Given the description of an element on the screen output the (x, y) to click on. 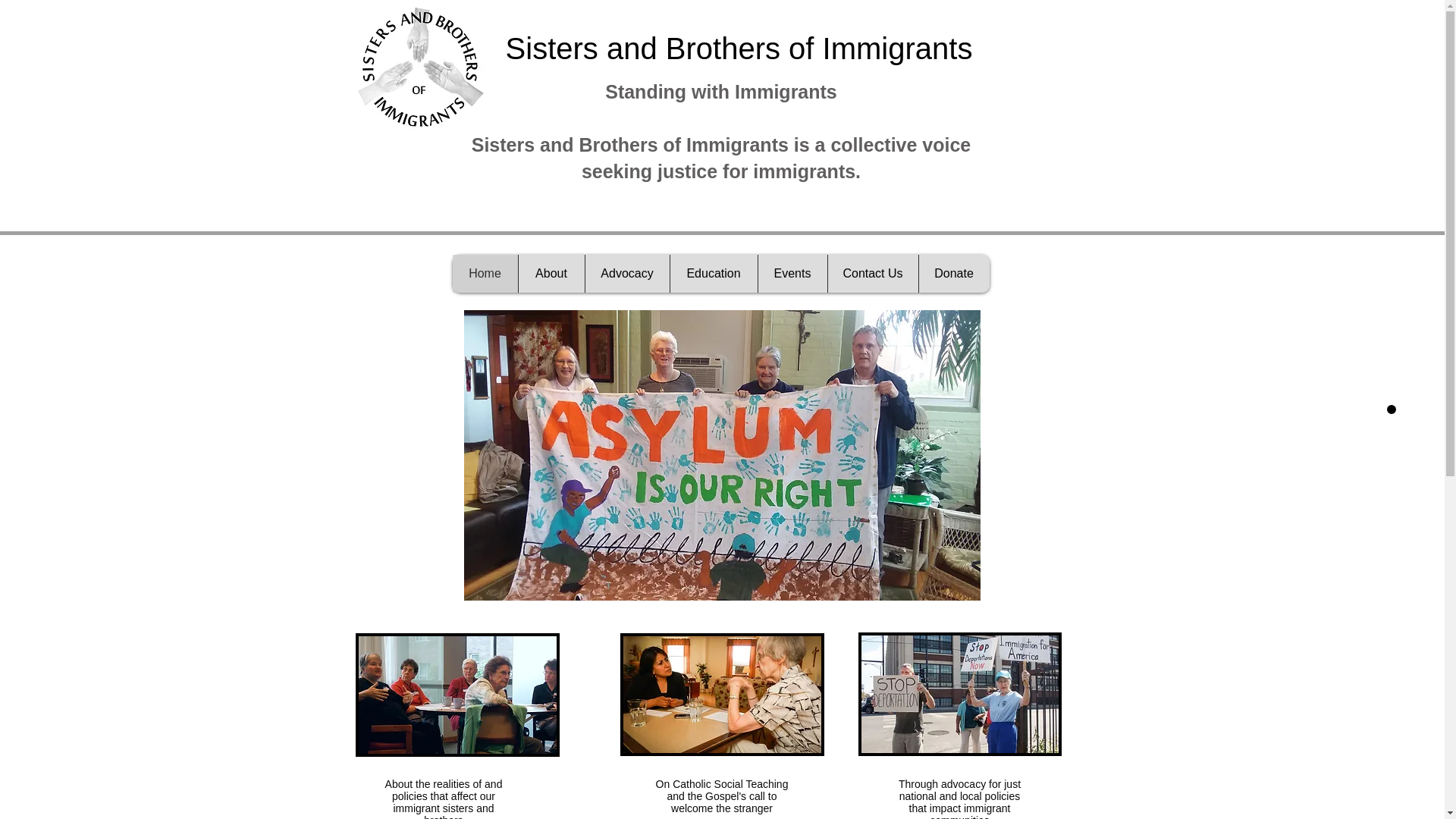
About (549, 273)
Edited Image 2016-01-23 22-44-16 (457, 694)
Events (792, 273)
Advocacy (625, 273)
Home (483, 273)
Contact Us (872, 273)
SBI Logo jpg.jpg (418, 68)
Donate (952, 273)
Education (712, 273)
